Given the description of an element on the screen output the (x, y) to click on. 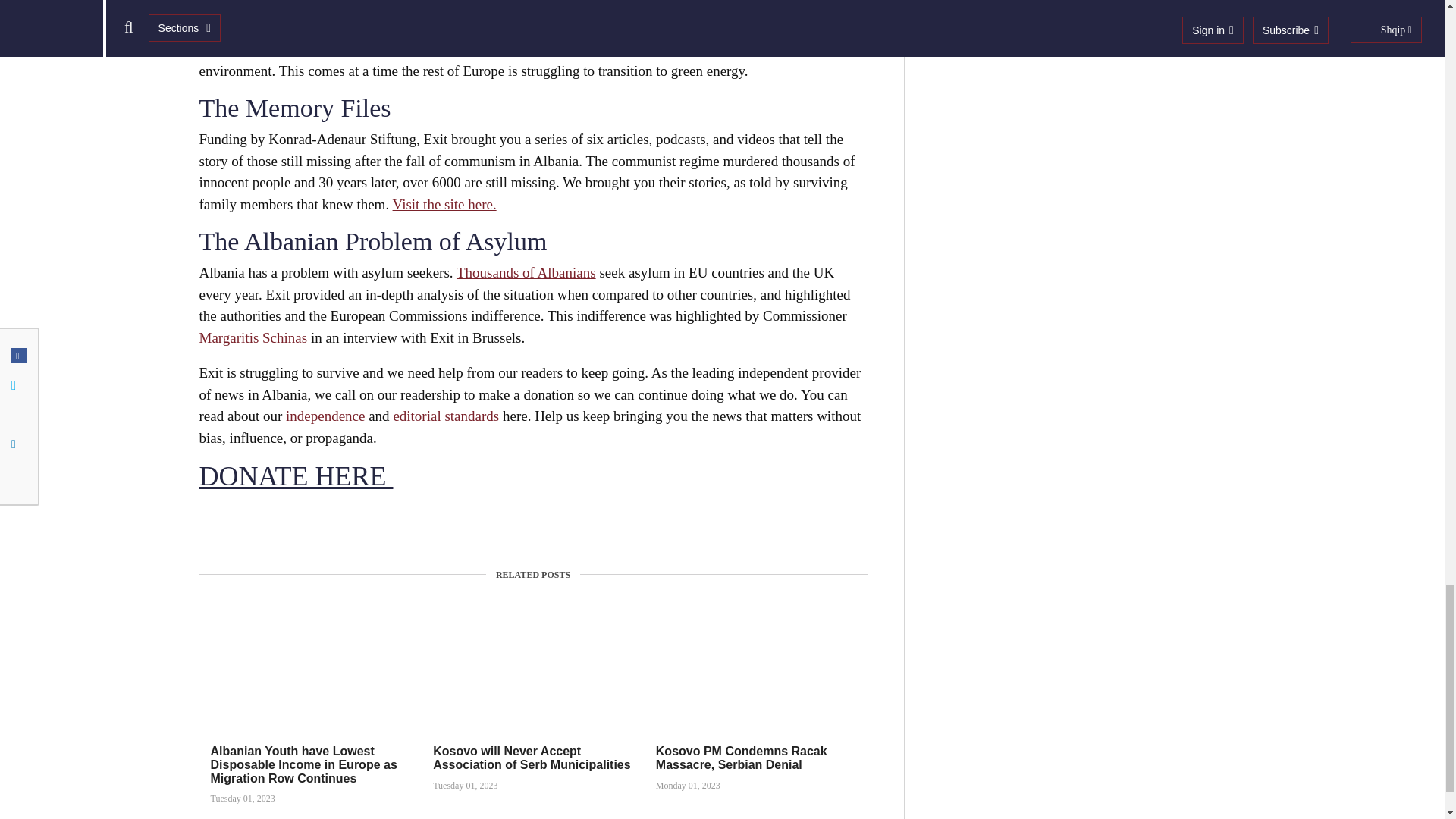
Kosovo will Never Accept Association of Serb Municipalities (531, 757)
Kosovo PM Condemns Racak Massacre, Serbian Denial (741, 757)
